Given the description of an element on the screen output the (x, y) to click on. 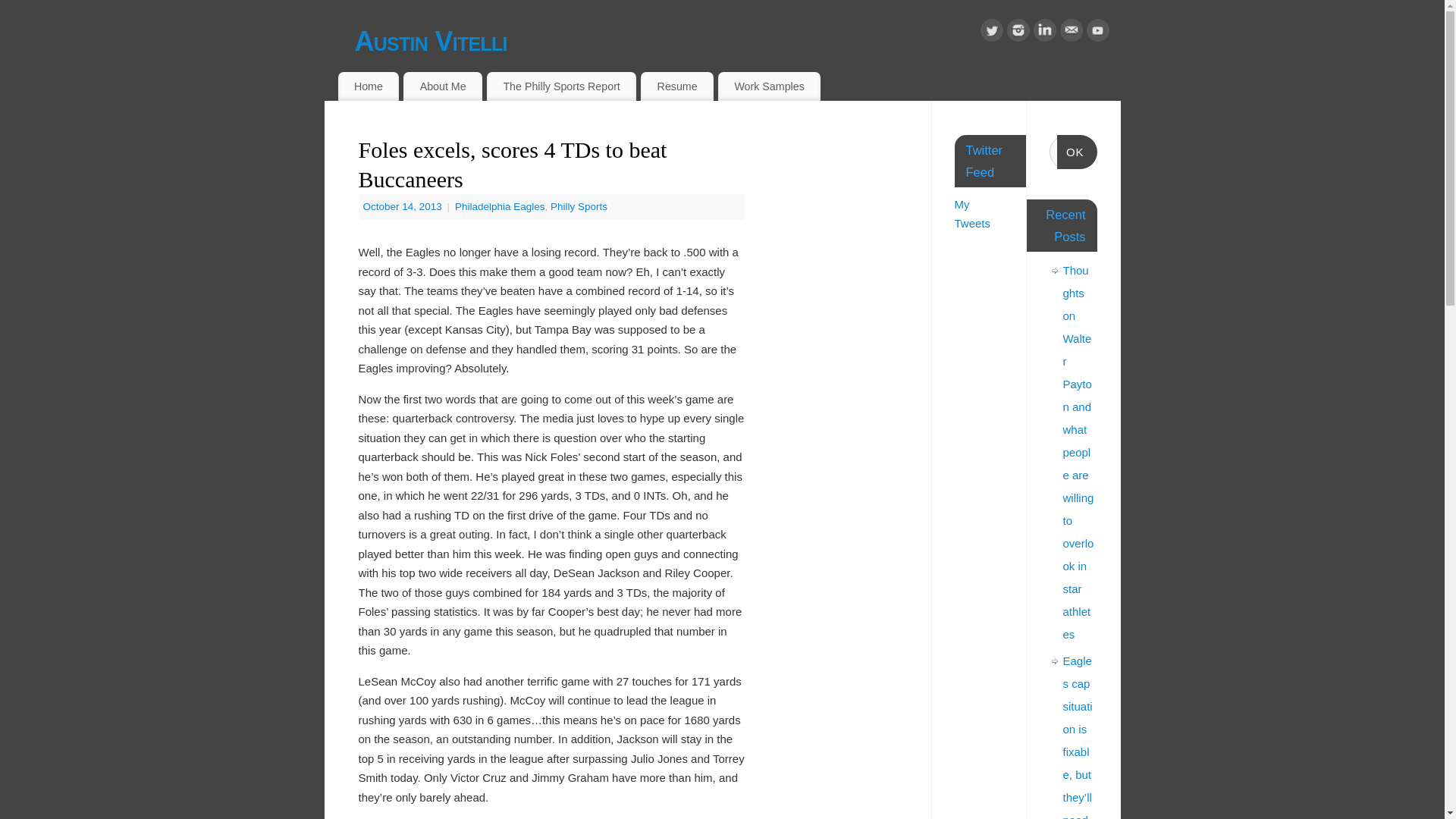
OK (1077, 151)
Austin Vitelli (738, 41)
October 14, 2013 (403, 206)
Home (367, 86)
Philadelphia Eagles (499, 206)
Austin Vitelli (738, 41)
4:54 pm (403, 206)
The Philly Sports Report (561, 86)
Philly Sports (578, 206)
About Me (442, 86)
Resume (676, 86)
Work Samples (769, 86)
